Given the description of an element on the screen output the (x, y) to click on. 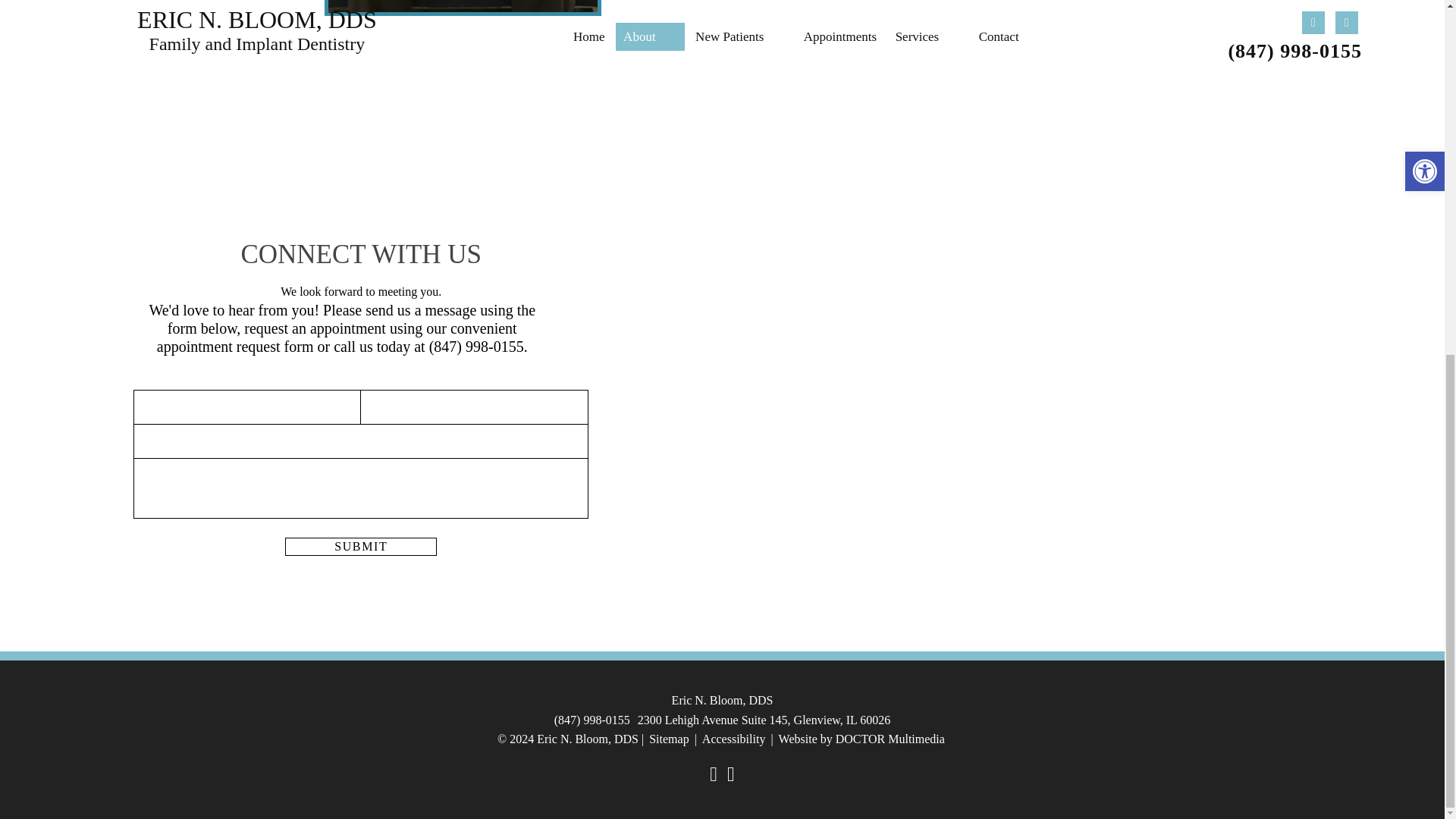
appointment request form (235, 346)
Submit (360, 546)
2300 Lehigh Avenue Suite 145, Glenview, IL 60026 (763, 719)
Sitemap (668, 739)
Eric N. Bloom, DDS (722, 700)
Website by DOCTOR Multimedia (861, 739)
Accessibility (734, 739)
Submit (360, 546)
